Given the description of an element on the screen output the (x, y) to click on. 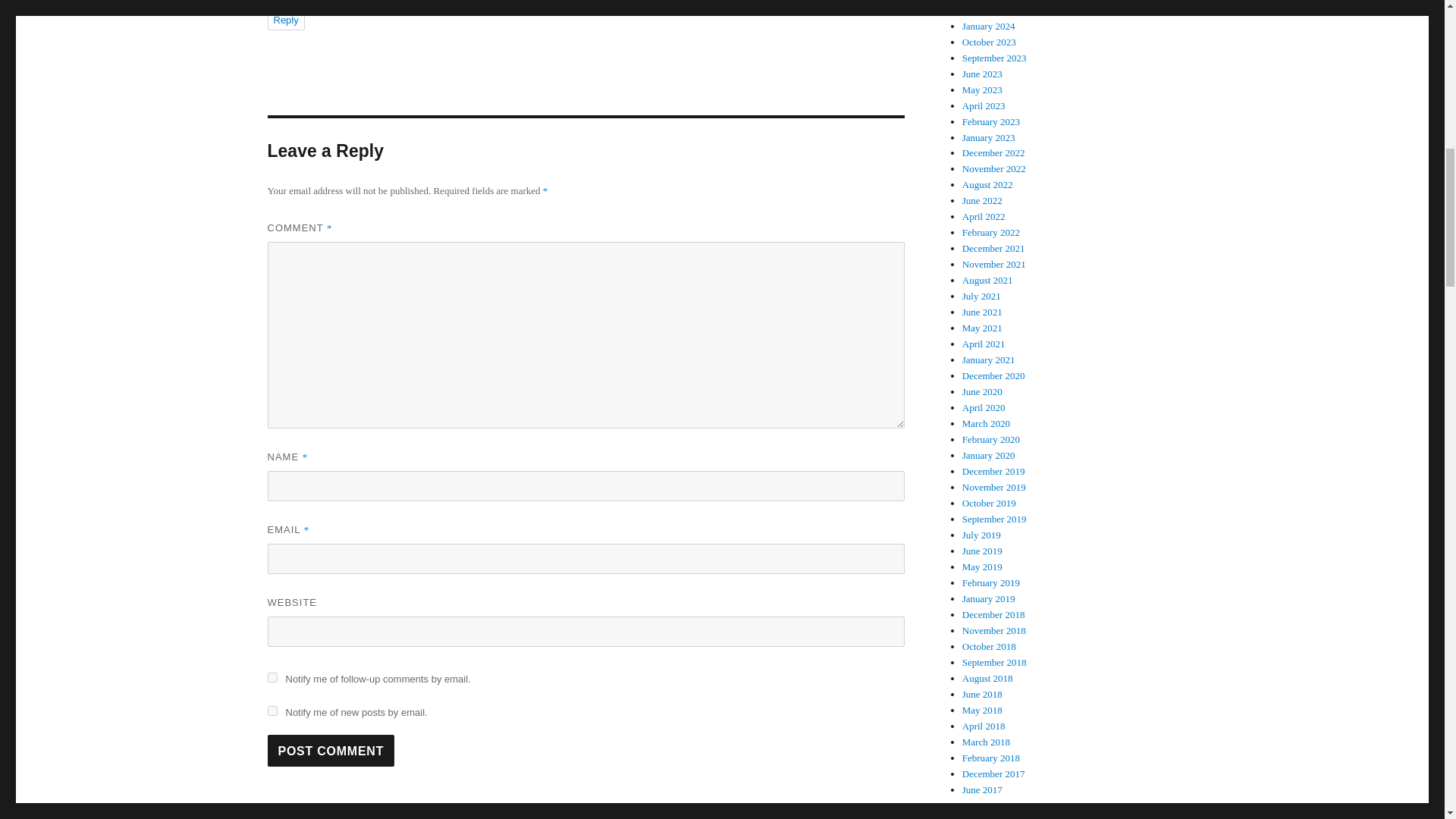
February 2023 (991, 121)
January 2024 (988, 25)
subscribe (271, 710)
September 2023 (994, 57)
January 2023 (988, 137)
Post Comment (330, 750)
May 2023 (982, 89)
August 2022 (987, 184)
Reply (285, 19)
December 2022 (993, 152)
November 2022 (994, 168)
April 2023 (984, 105)
June 2023 (982, 73)
October 2023 (989, 41)
subscribe (271, 677)
